Given the description of an element on the screen output the (x, y) to click on. 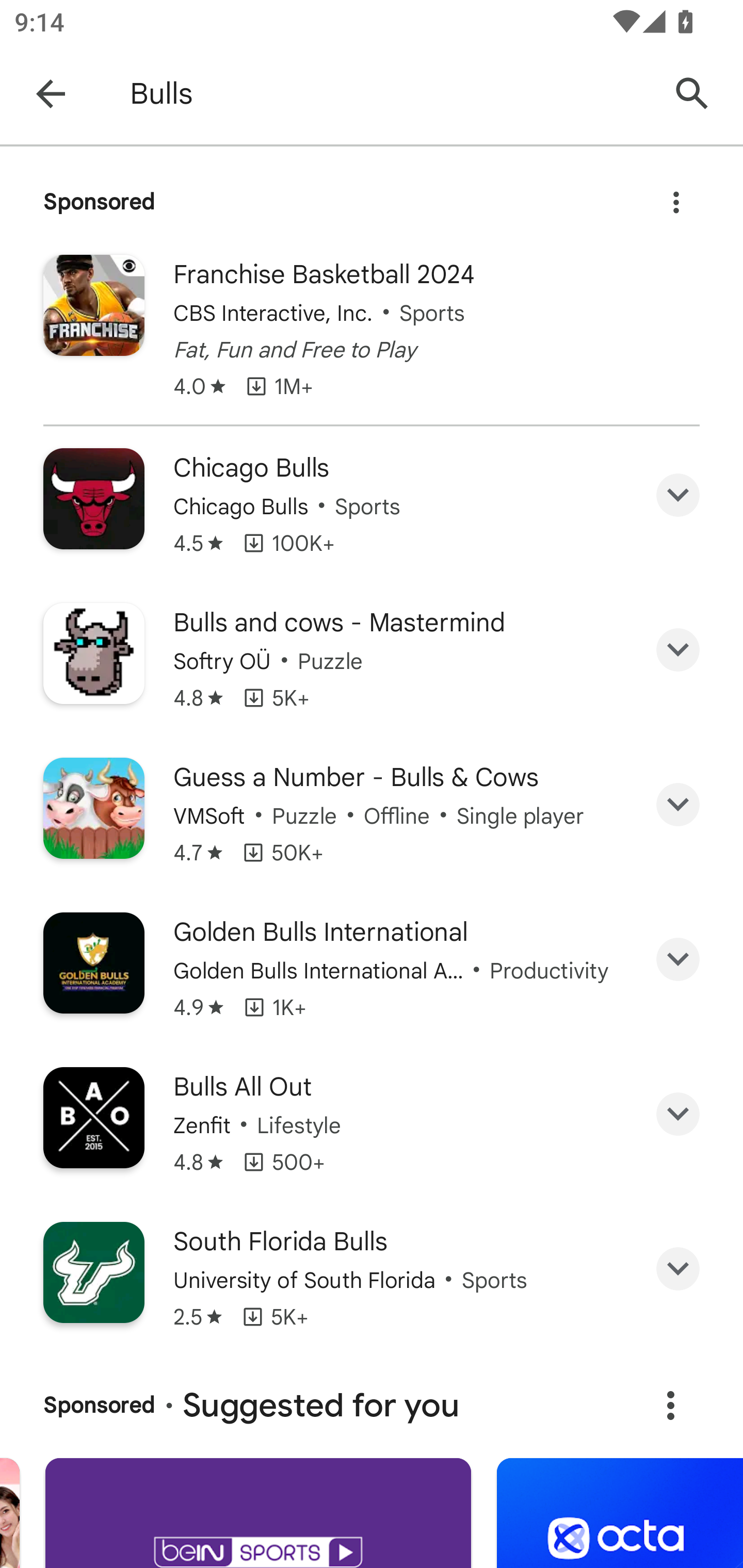
Bulls (389, 93)
Navigate up (50, 93)
Search Google Play (692, 93)
About this ad (676, 196)
Expand content for Chicago Bulls (677, 494)
Expand content for Bulls and cows - Mastermind (677, 649)
Expand content for Guess a Number - Bulls & Cows (677, 805)
Expand content for Golden Bulls International (677, 958)
Expand content for Bulls All Out (677, 1113)
Expand content for South Florida Bulls (677, 1269)
About this ad (670, 1405)
